Given the description of an element on the screen output the (x, y) to click on. 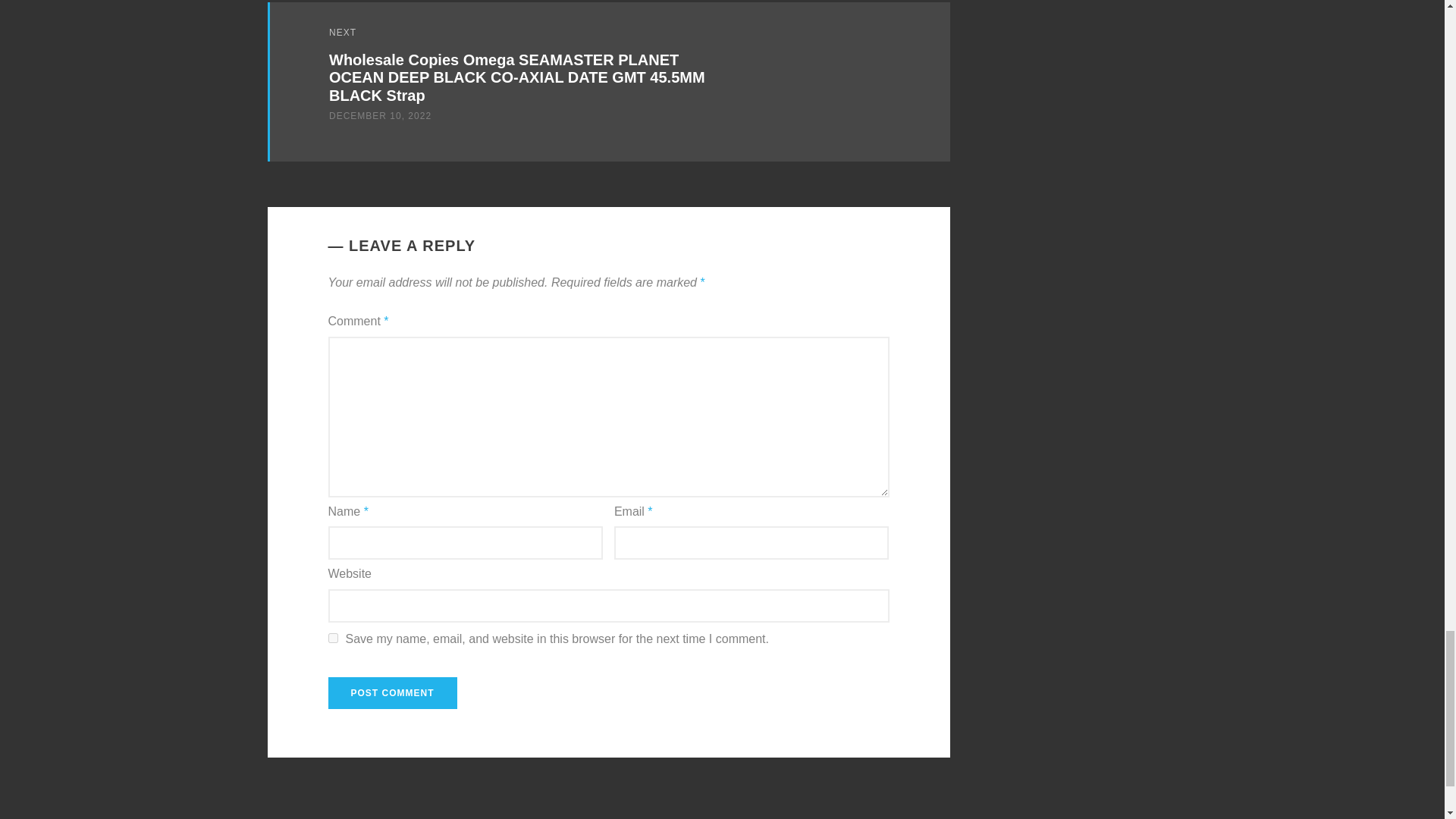
Post Comment (392, 693)
yes (332, 637)
Post Comment (392, 693)
